Given the description of an element on the screen output the (x, y) to click on. 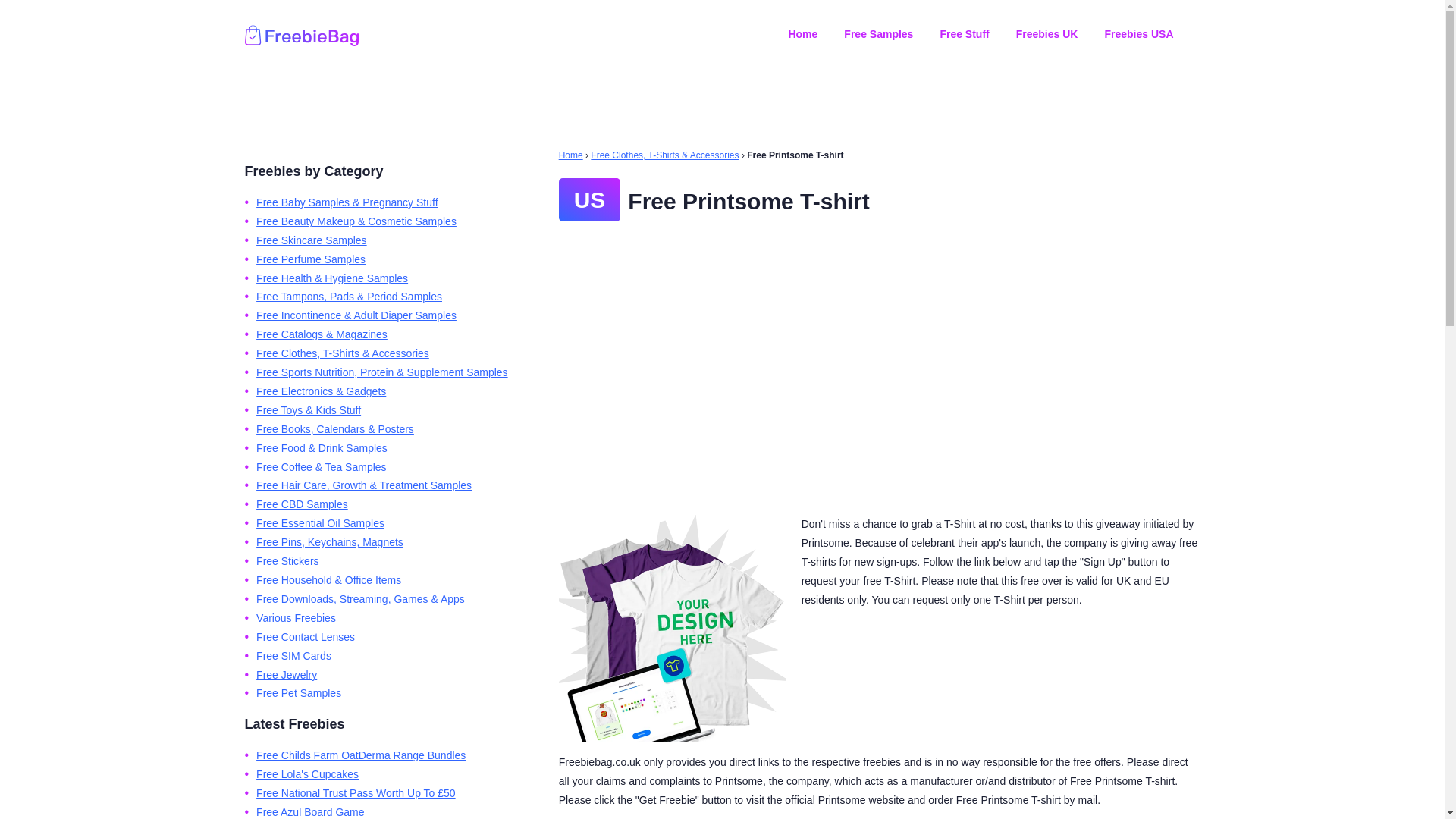
Free Skincare Samples (311, 240)
Free Pins, Keychains, Magnets (329, 541)
Free Essential Oil Samples (320, 522)
Freebies UK (1047, 33)
US (590, 199)
Home (571, 154)
Home (801, 33)
Free Perfume Samples (310, 259)
Free Stickers (287, 561)
